Given the description of an element on the screen output the (x, y) to click on. 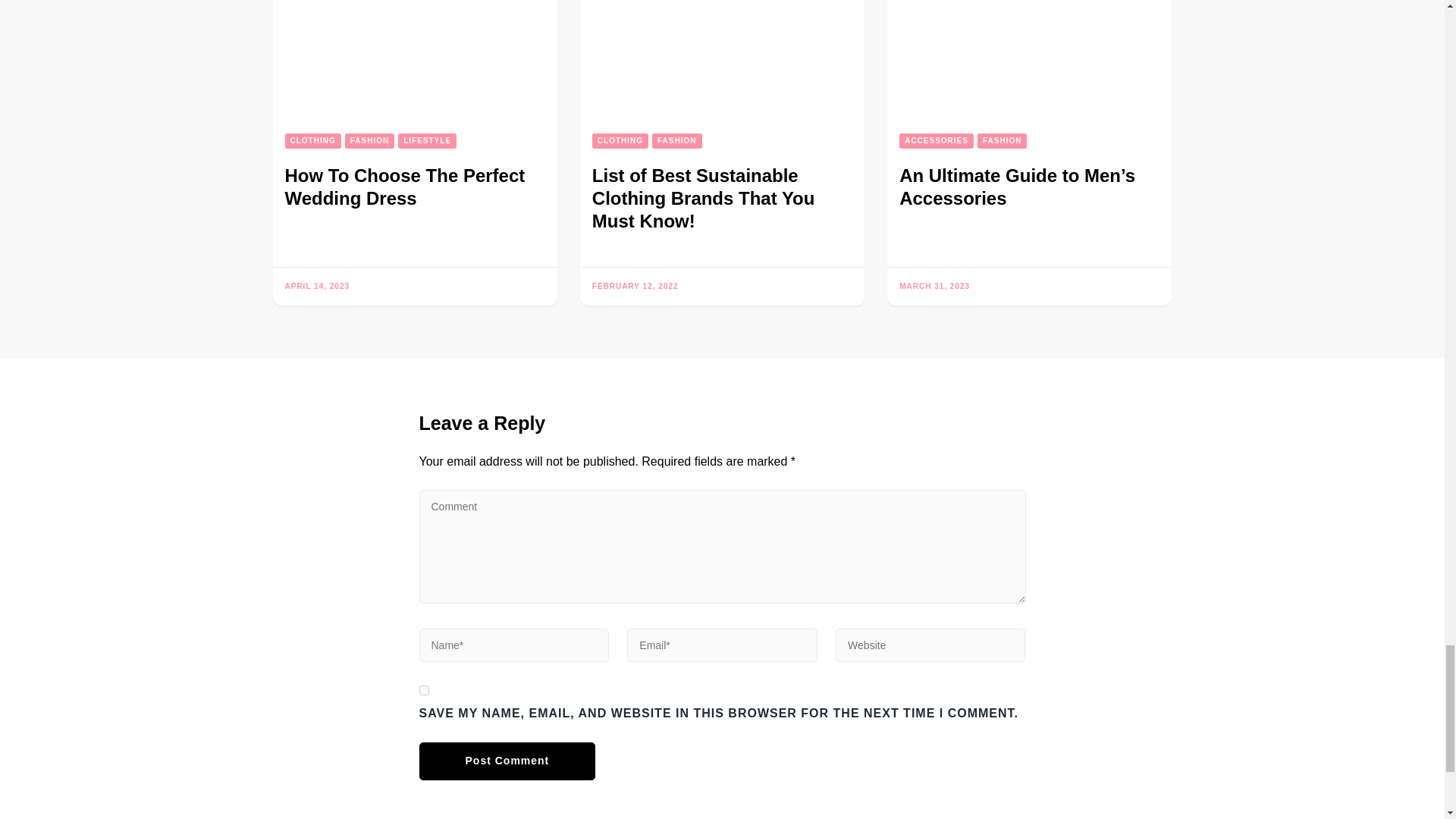
yes (423, 690)
Post Comment (507, 761)
